Given the description of an element on the screen output the (x, y) to click on. 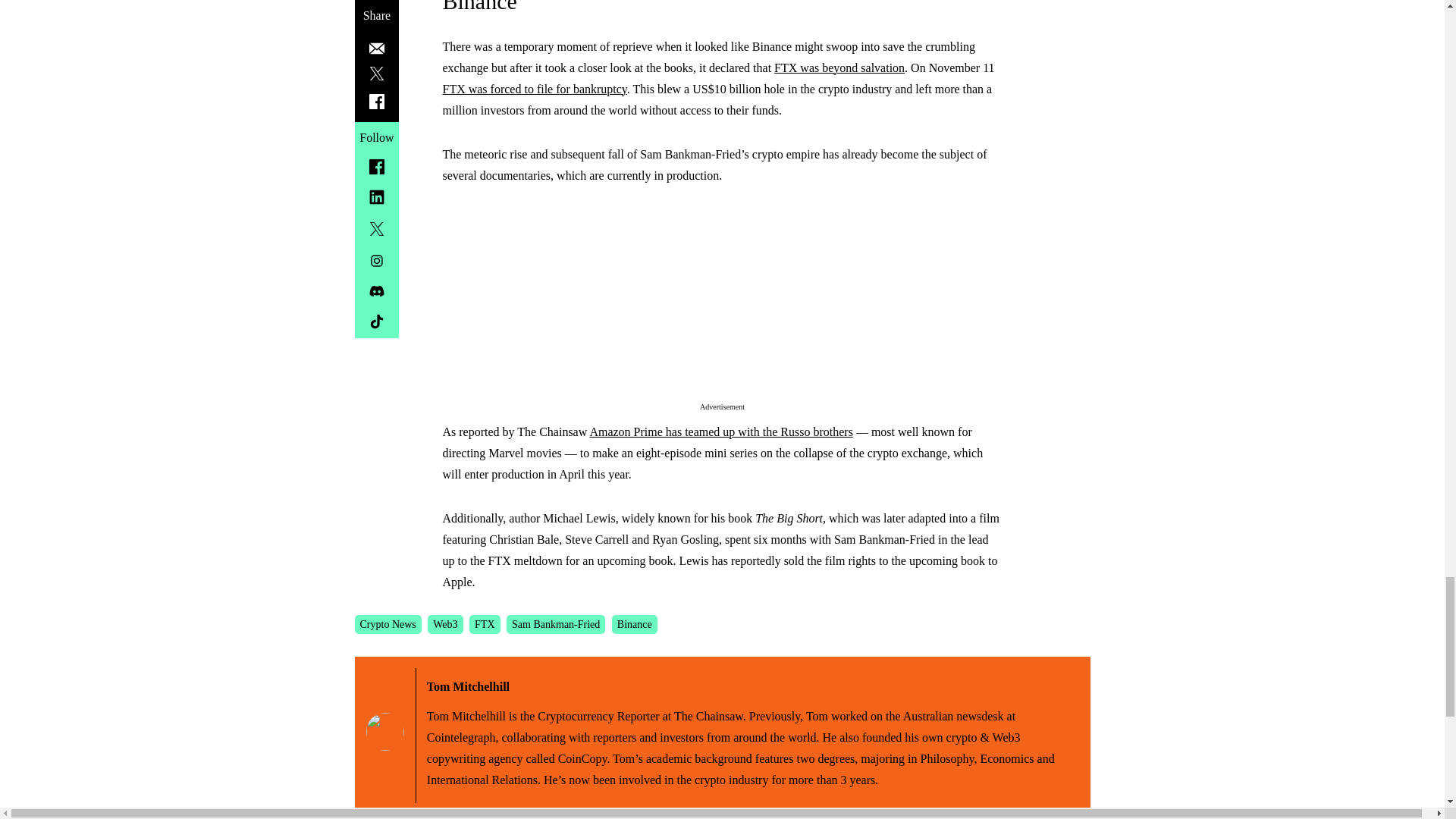
3rd party ad content (721, 303)
